Given the description of an element on the screen output the (x, y) to click on. 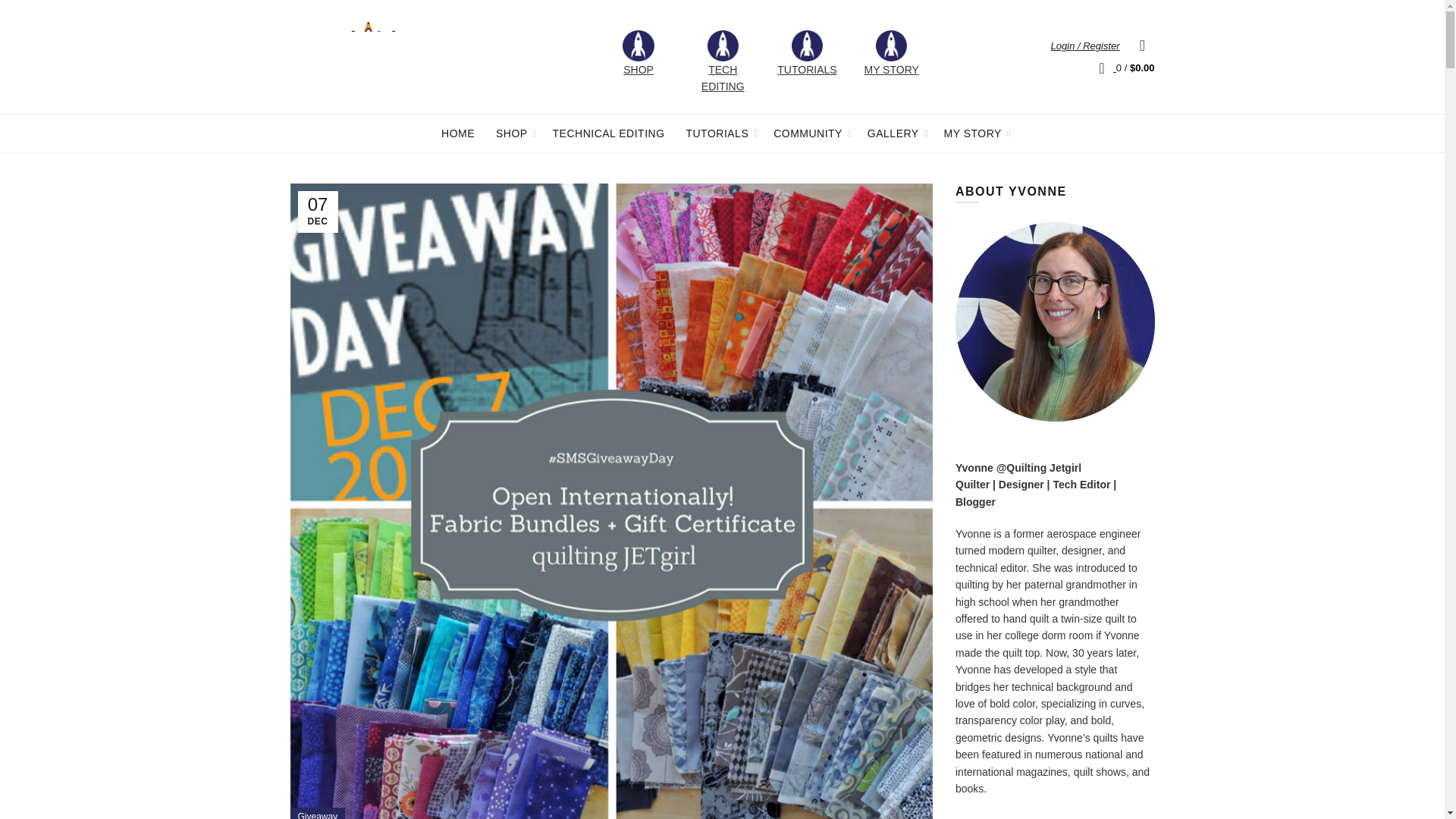
rocket icon (891, 45)
rocket icon (638, 45)
rocket icon (722, 45)
About Yvonne (1054, 321)
rocket icon (807, 45)
